Given the description of an element on the screen output the (x, y) to click on. 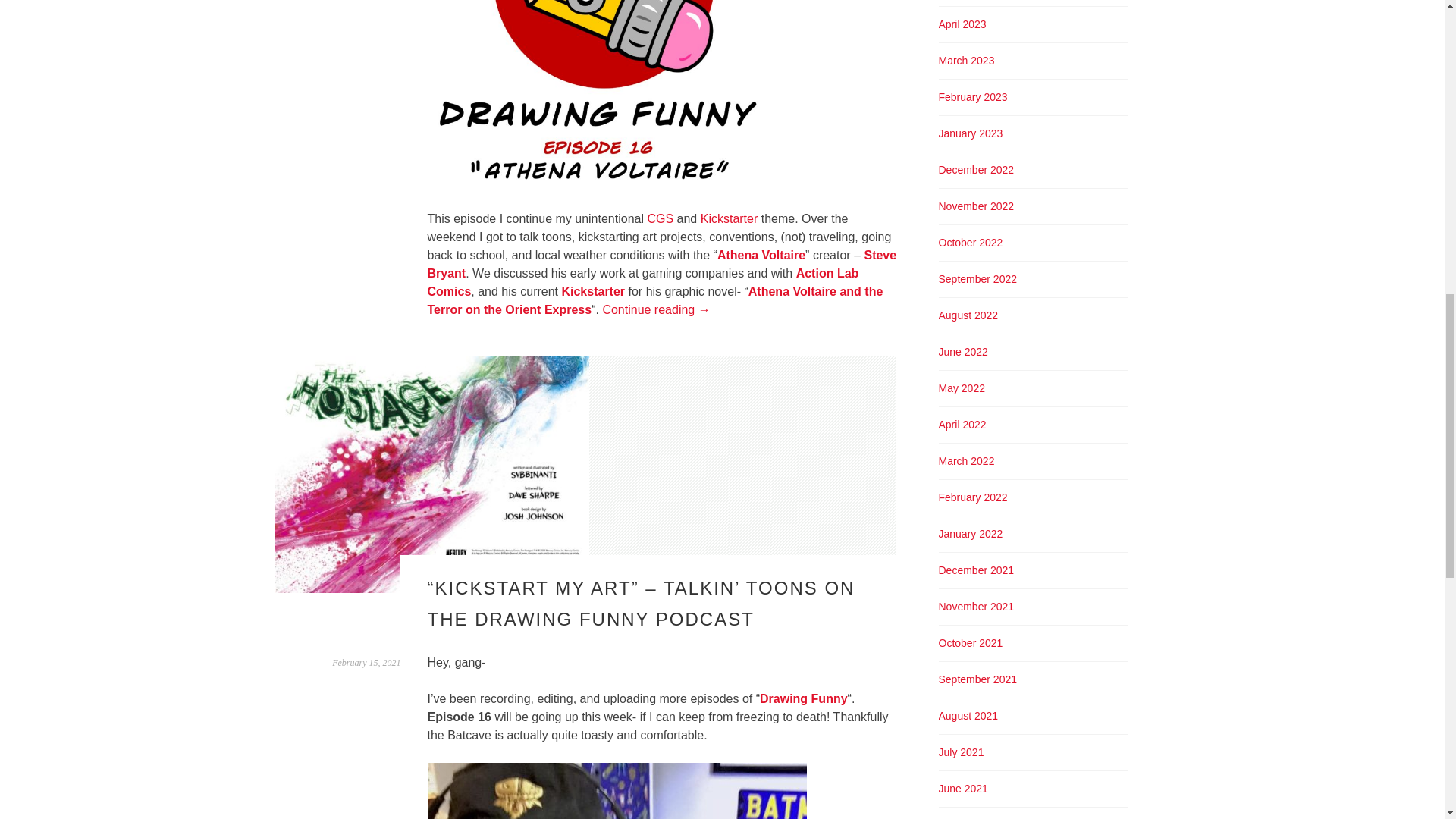
Kickstarter (592, 291)
February 15, 2021 (365, 662)
Kickstarter (729, 218)
Action Lab Comics (643, 282)
CGS (659, 218)
Athena Voltaire (761, 254)
Drawing Funny (803, 698)
Athena Voltaire and the Terror on the Orient Express (655, 300)
Steve Bryant (662, 264)
